Given the description of an element on the screen output the (x, y) to click on. 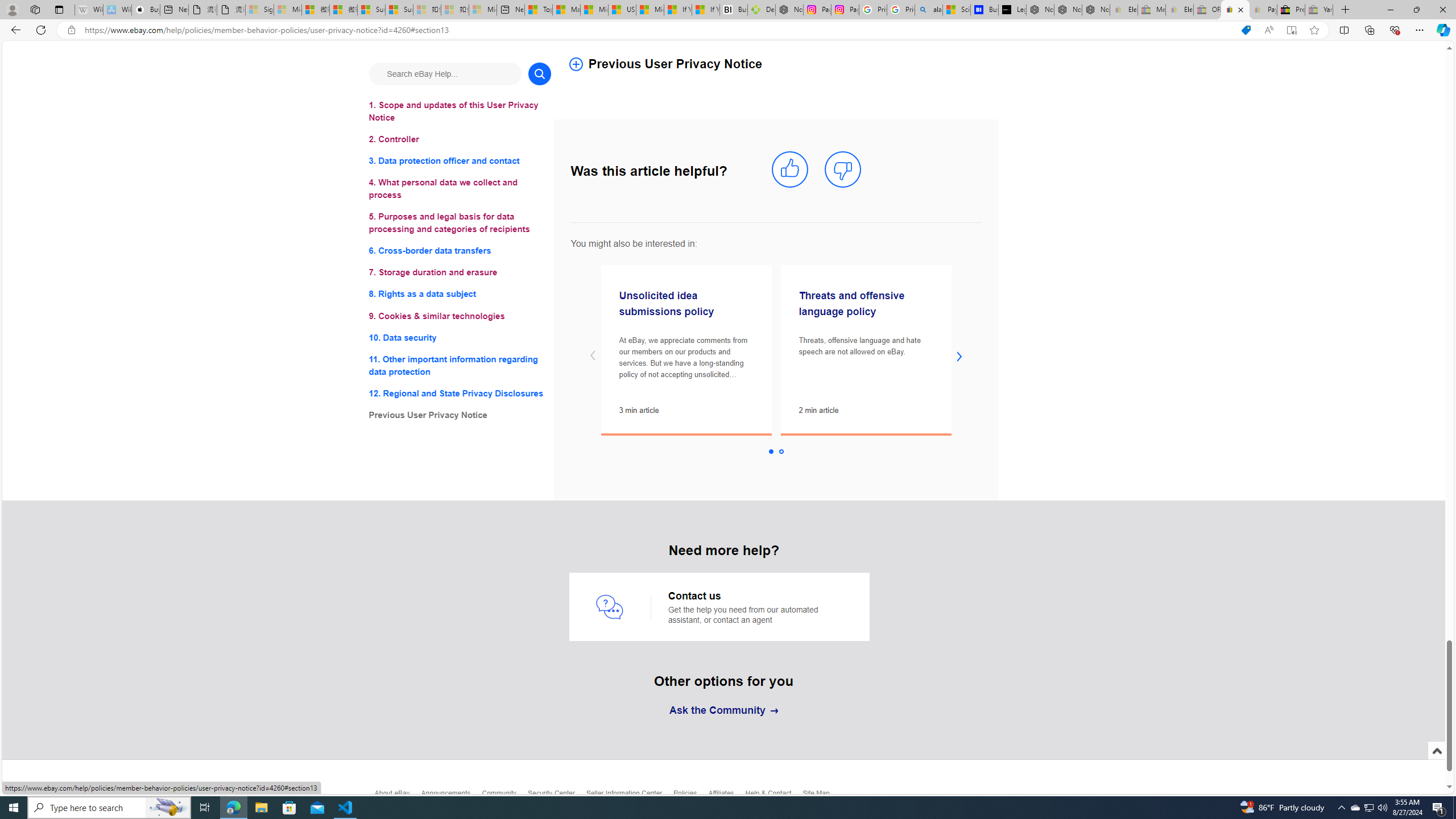
11. Other important information regarding data protection (459, 365)
Announcements (450, 795)
Microsoft Services Agreement - Sleeping (288, 9)
Policies (690, 795)
Site Map (821, 795)
Scroll to top (1435, 762)
3. Data protection officer and contact (459, 160)
11. Other important information regarding data protection (459, 365)
1. Scope and updates of this User Privacy Notice (459, 111)
Affiliates (726, 795)
Slide 1 selected (770, 451)
